Given the description of an element on the screen output the (x, y) to click on. 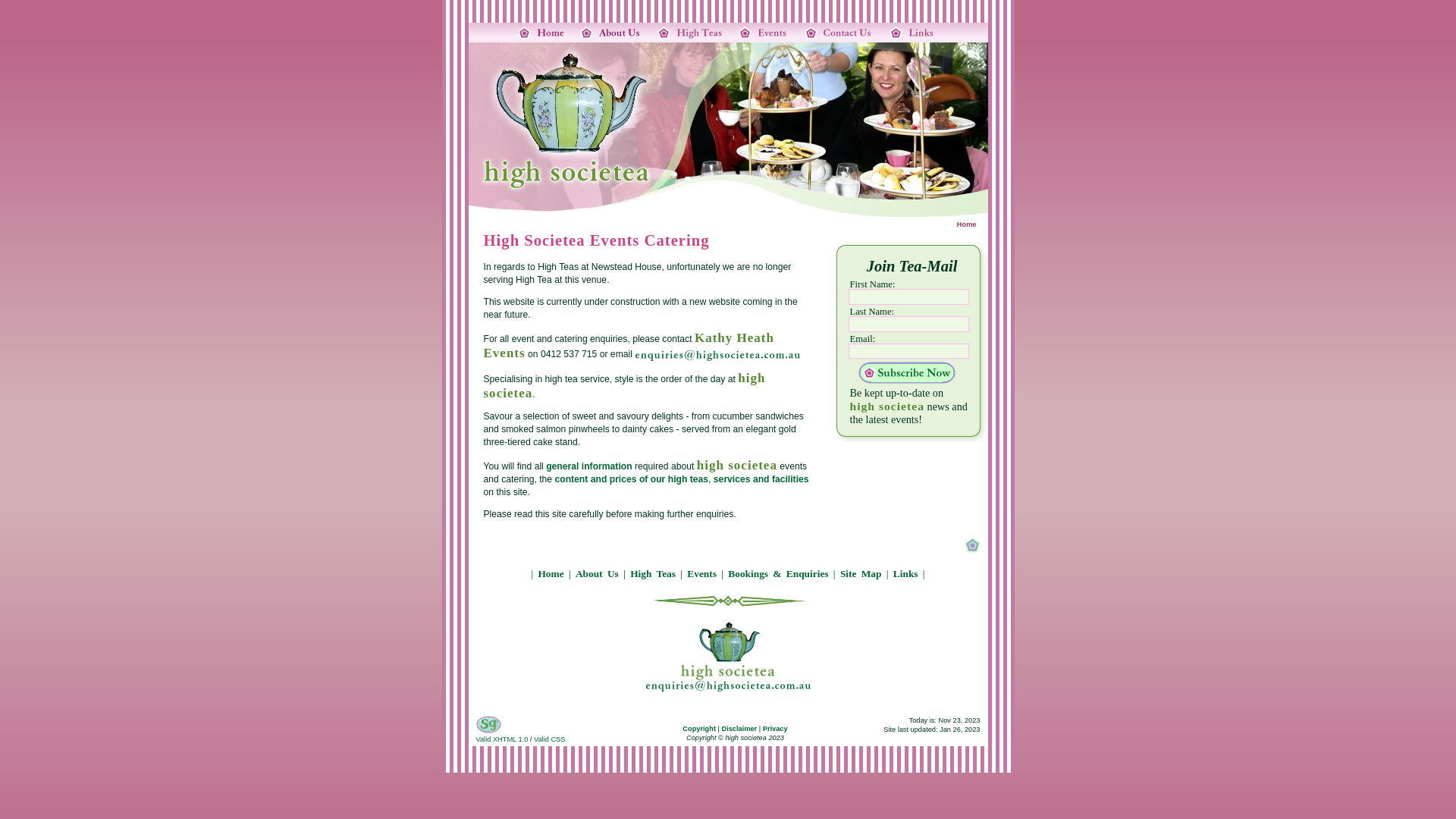
general information Element type: text (588, 466)
Disclaimer Element type: text (739, 728)
Valid XHTML 1.0 Element type: text (502, 739)
Valid CSS Element type: text (548, 739)
Bookings & Enquiries Element type: text (778, 573)
Site Map Element type: text (860, 573)
Links Element type: text (905, 573)
Events Element type: text (701, 573)
Web Development and Graphics by Sibagraphics Element type: hover (494, 724)
High Teas Element type: text (652, 573)
Copyright Element type: text (698, 728)
Home Element type: text (550, 573)
services and facilities Element type: text (761, 478)
About Us Element type: text (596, 573)
content and prices of our high teas Element type: text (631, 478)
Privacy Element type: text (774, 728)
